Given the description of an element on the screen output the (x, y) to click on. 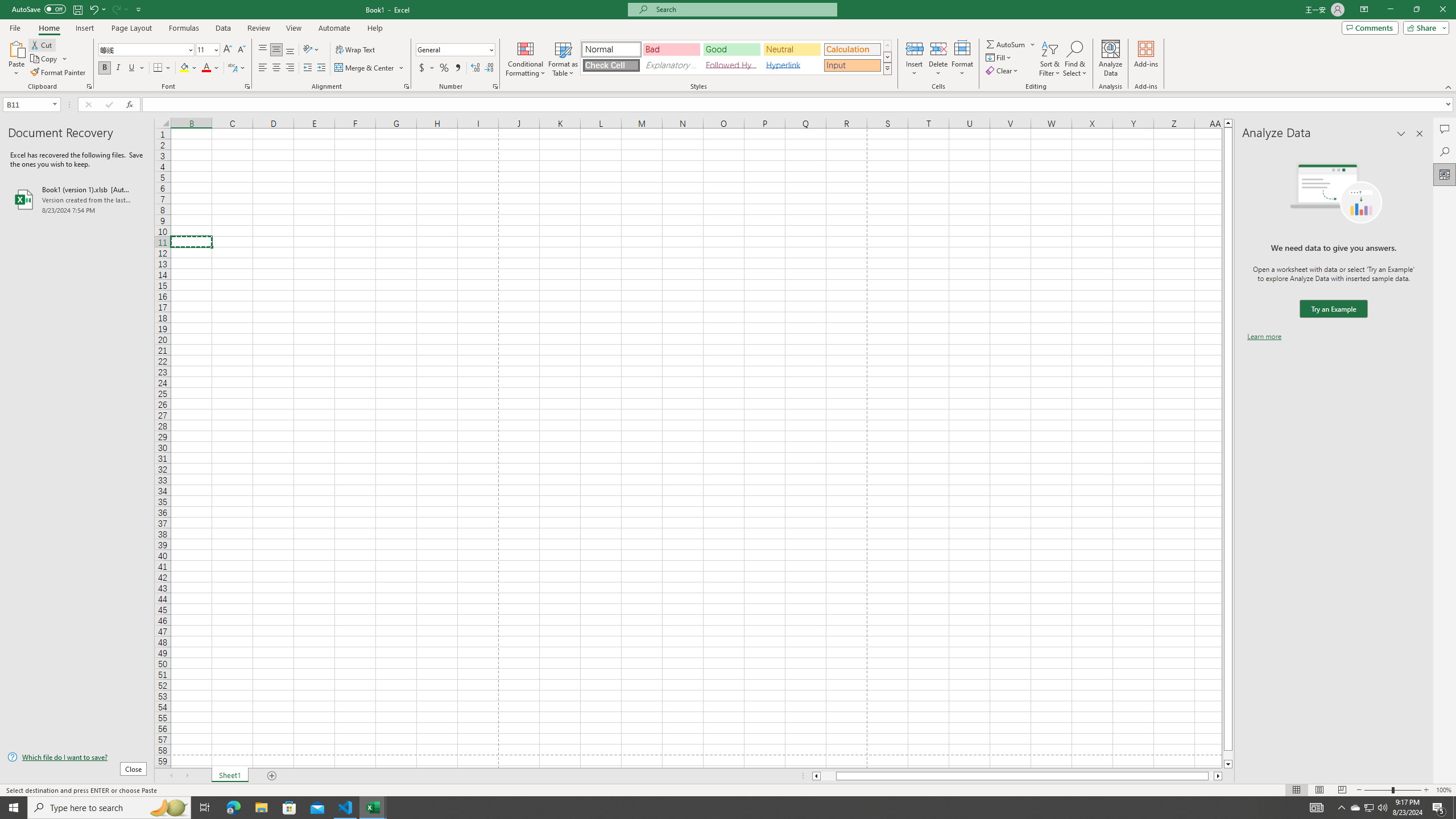
Office Clipboard... (88, 85)
Decrease Decimal (489, 67)
Font Color (210, 67)
Increase Font Size (227, 49)
Format (962, 58)
Insert Cells (914, 48)
Center (276, 67)
Number Format (455, 49)
Decrease Font Size (240, 49)
Accounting Number Format (426, 67)
Neutral (791, 49)
Sort & Filter (1049, 58)
